Given the description of an element on the screen output the (x, y) to click on. 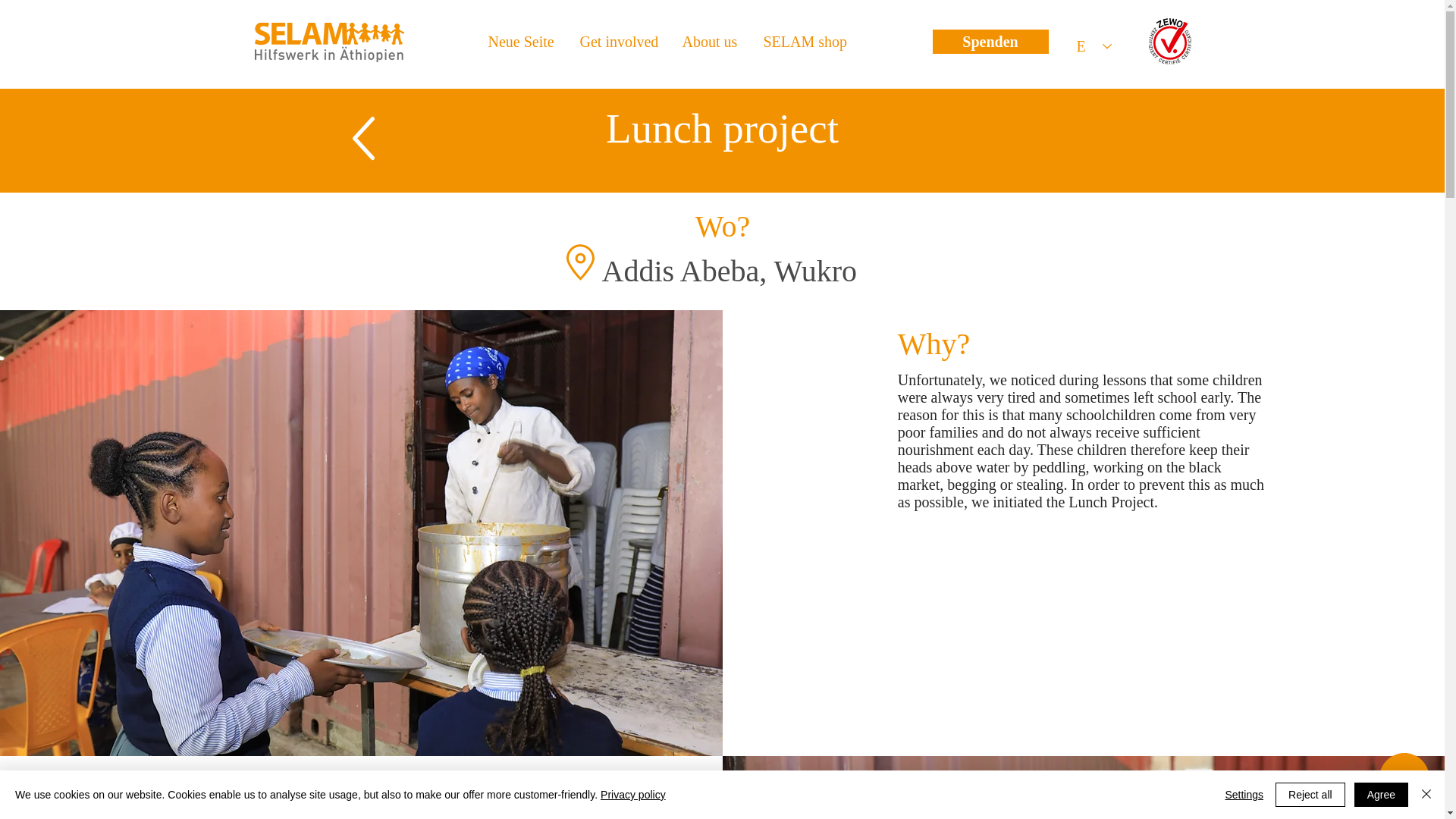
Spenden (990, 41)
Neue Seite (521, 41)
About us (710, 41)
SELAM shop (803, 41)
Get involved (620, 41)
